Given the description of an element on the screen output the (x, y) to click on. 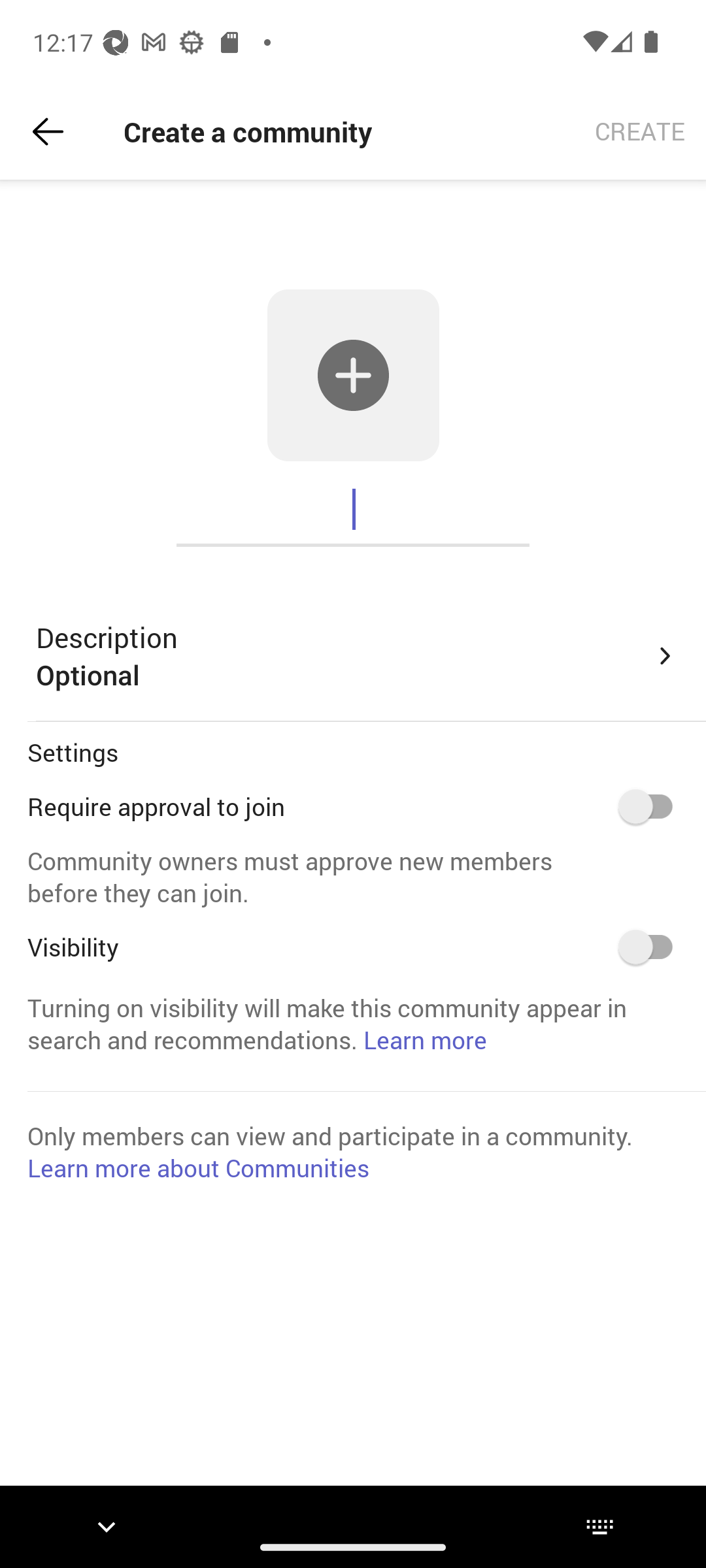
Back (48, 131)
CREATE (639, 131)
Add community image (353, 375)
Description Optional (357, 656)
Require approval to join (652, 806)
Visibility (652, 946)
